Given the description of an element on the screen output the (x, y) to click on. 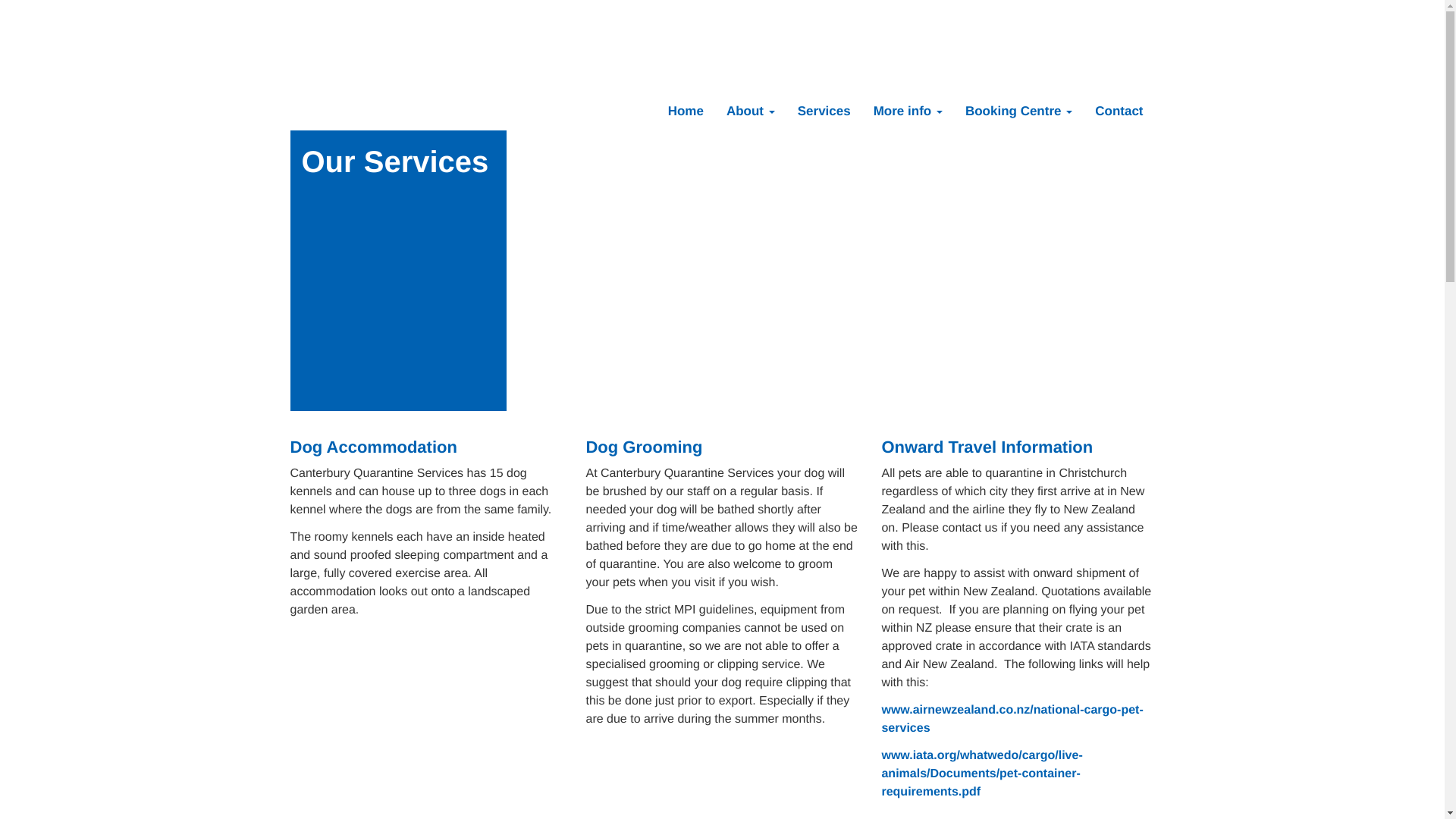
Services (823, 111)
Booking Centre (1018, 111)
Home (685, 111)
About (750, 111)
Contact (1118, 111)
More info (907, 111)
